Given the description of an element on the screen output the (x, y) to click on. 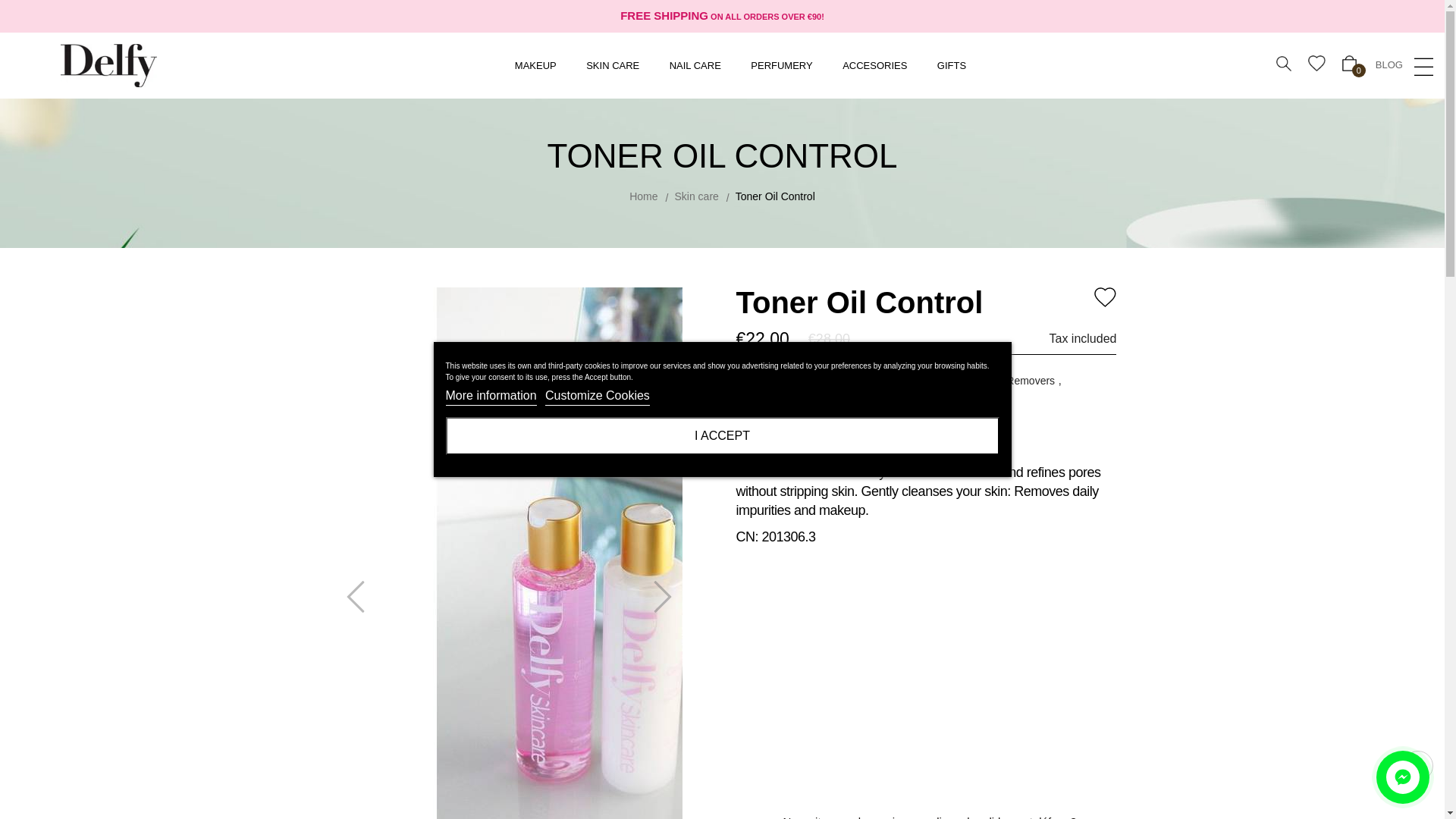
Nail Care (694, 65)
Makeup (535, 65)
My Wishlists (1318, 65)
Blog (1389, 64)
Accesories (875, 65)
MAKEUP (535, 65)
SKIN CARE (612, 65)
NAIL CARE (694, 65)
Perfumery (781, 65)
BLOG (1389, 64)
ACCESORIES (875, 65)
PERFUMERY (781, 65)
Skin Care (612, 65)
